Given the description of an element on the screen output the (x, y) to click on. 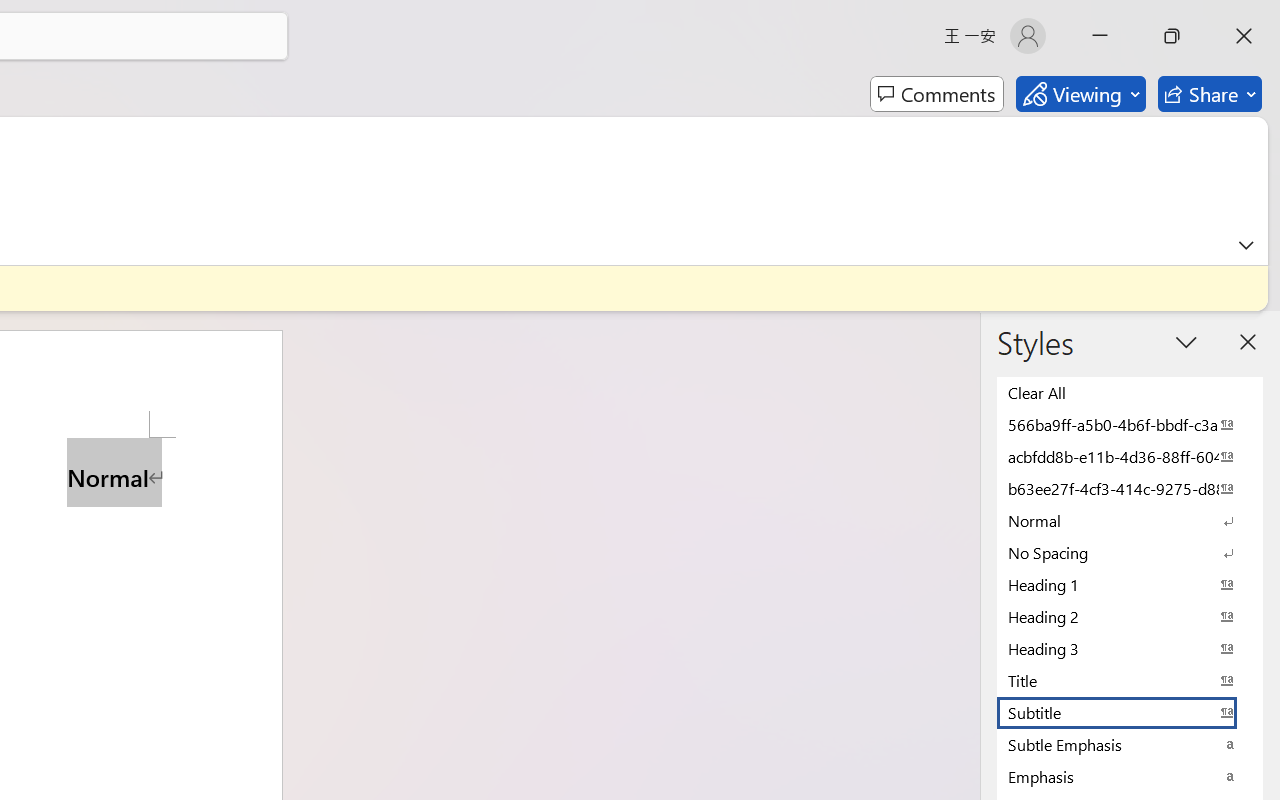
No Spacing (1130, 552)
Mode (1080, 94)
Task Pane Options (1186, 342)
Subtle Emphasis (1130, 744)
Heading 2 (1130, 616)
Emphasis (1130, 776)
Ribbon Display Options (1246, 245)
Clear All (1130, 392)
Title (1130, 680)
Normal (1130, 520)
